Given the description of an element on the screen output the (x, y) to click on. 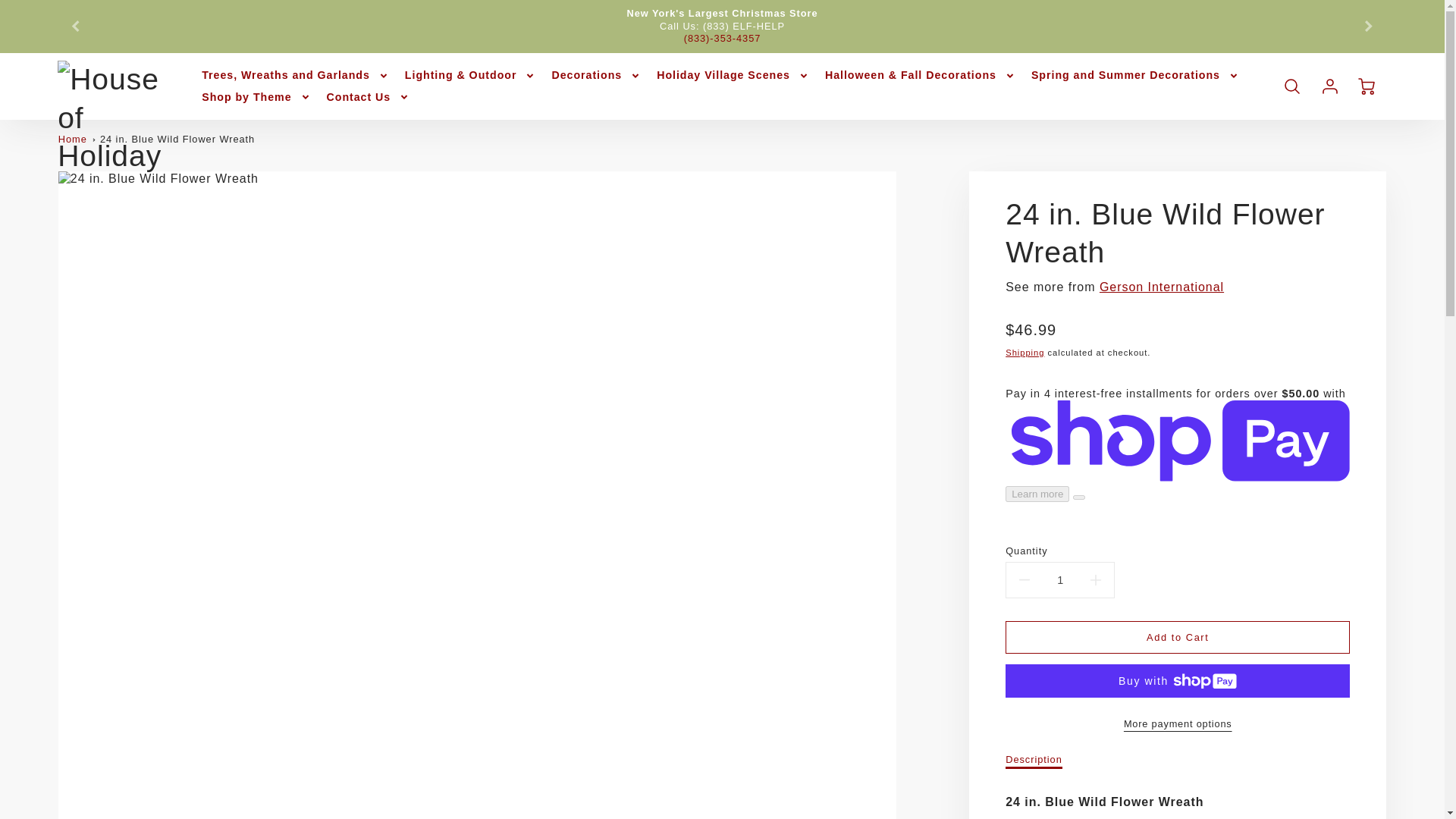
1 (1059, 580)
Trees, Wreaths and Garlands (296, 74)
Decorations (596, 74)
Gerson International (1161, 286)
